Given the description of an element on the screen output the (x, y) to click on. 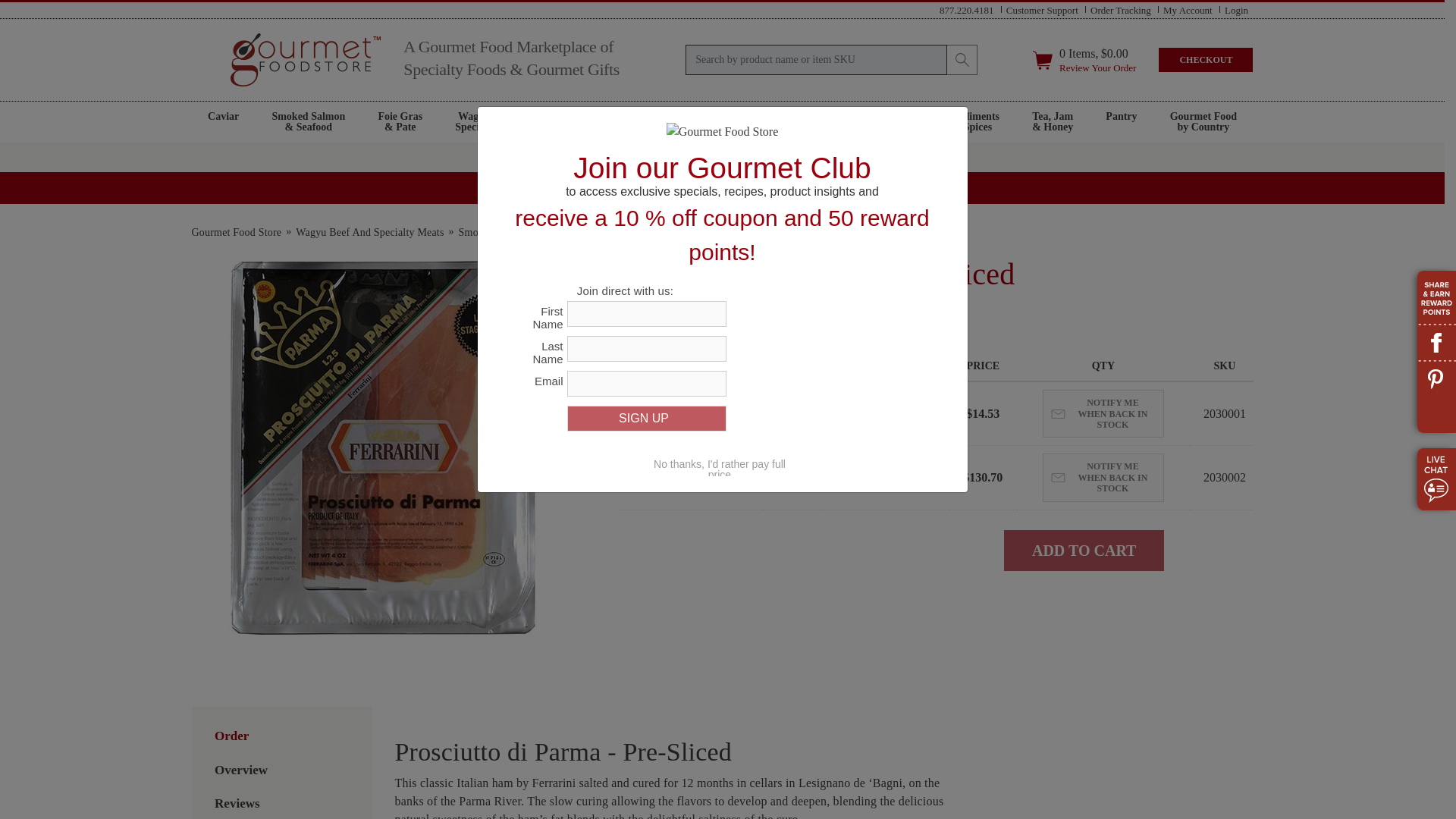
Order Tracking (1121, 9)
Gourmet Food Store (235, 232)
Login (1236, 9)
Wagyu Beef And Specialty Meats (369, 232)
877.220.4181 (286, 762)
My Account (966, 9)
Smoked and Cured Meats (1187, 9)
CHECKOUT (280, 762)
Caviar (515, 232)
Customer Support (1205, 59)
ADD TO CART (223, 121)
Prosciutto (1042, 9)
